Given the description of an element on the screen output the (x, y) to click on. 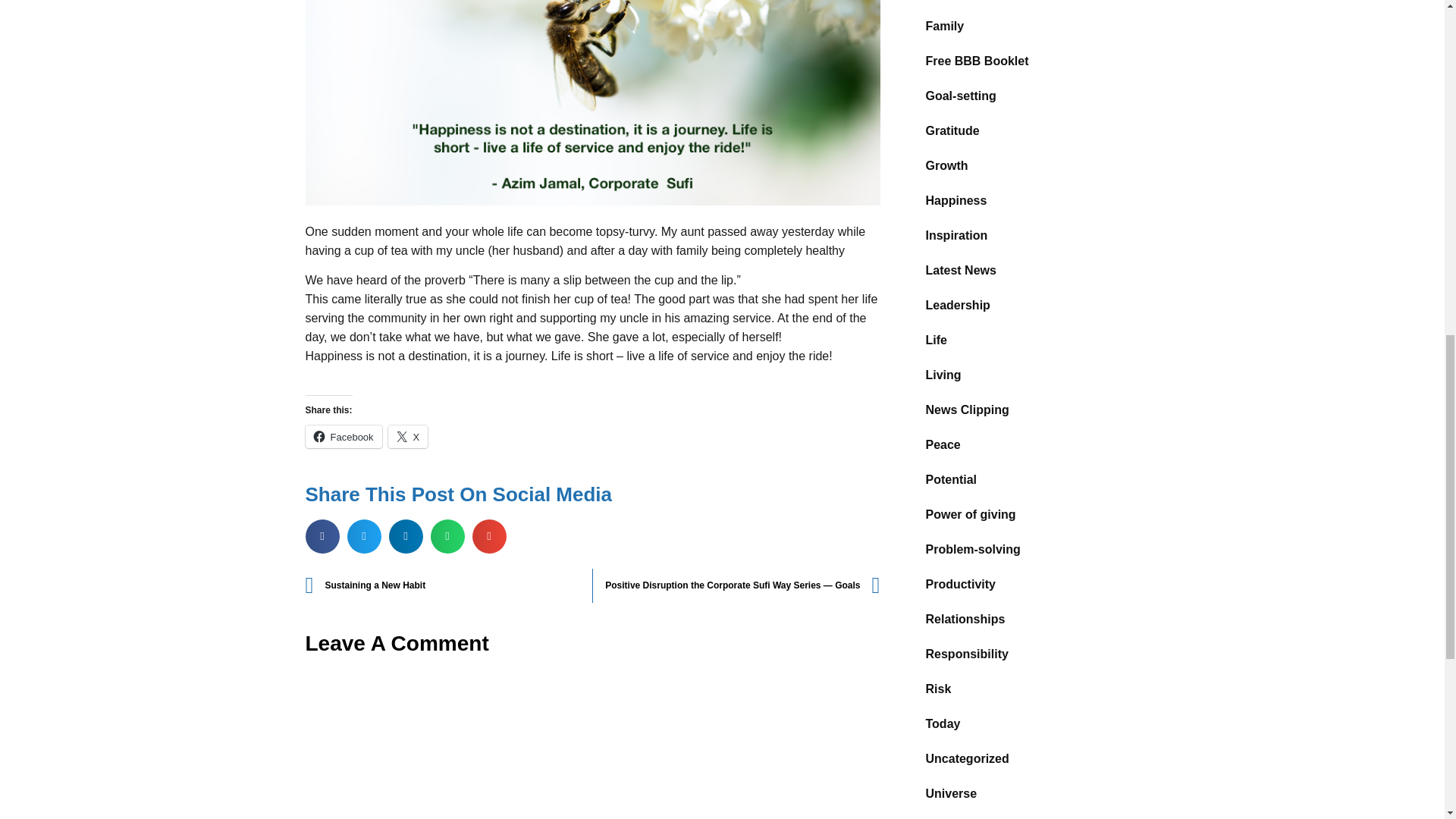
X (408, 436)
Gratitude (1024, 130)
Ethics (1024, 4)
Growth (1024, 165)
Inspiration (1024, 235)
Family (1024, 26)
Free BBB Booklet (1024, 61)
Happiness (1024, 200)
Facebook (342, 436)
Goal-setting (1024, 95)
